Given the description of an element on the screen output the (x, y) to click on. 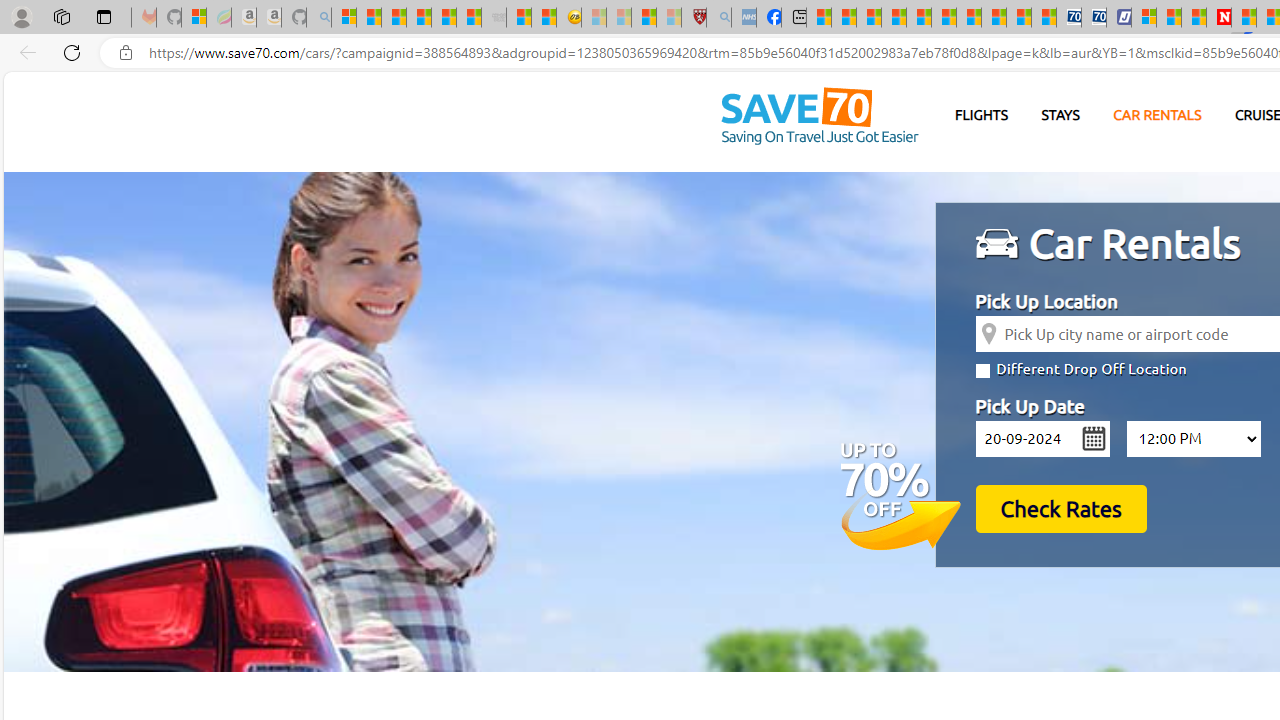
CAR RENTALS (1157, 115)
Trusted Community Engagement and Contributions | Guidelines (1243, 17)
View site information (125, 53)
FLIGHTS (981, 115)
STAYS (1060, 115)
The Weather Channel - MSN (393, 17)
